Given the description of an element on the screen output the (x, y) to click on. 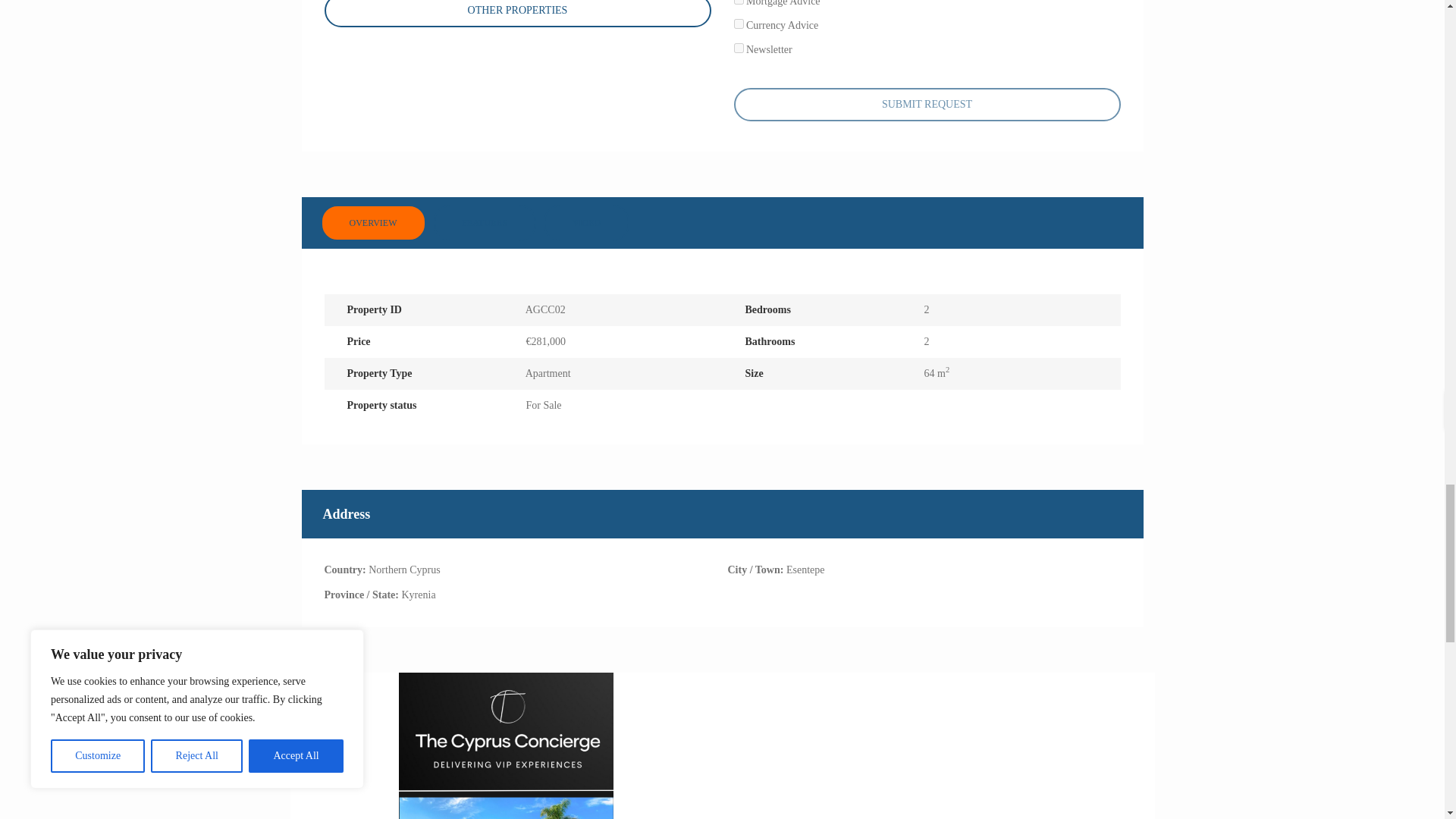
on (738, 48)
on (738, 23)
on (738, 2)
